Given the description of an element on the screen output the (x, y) to click on. 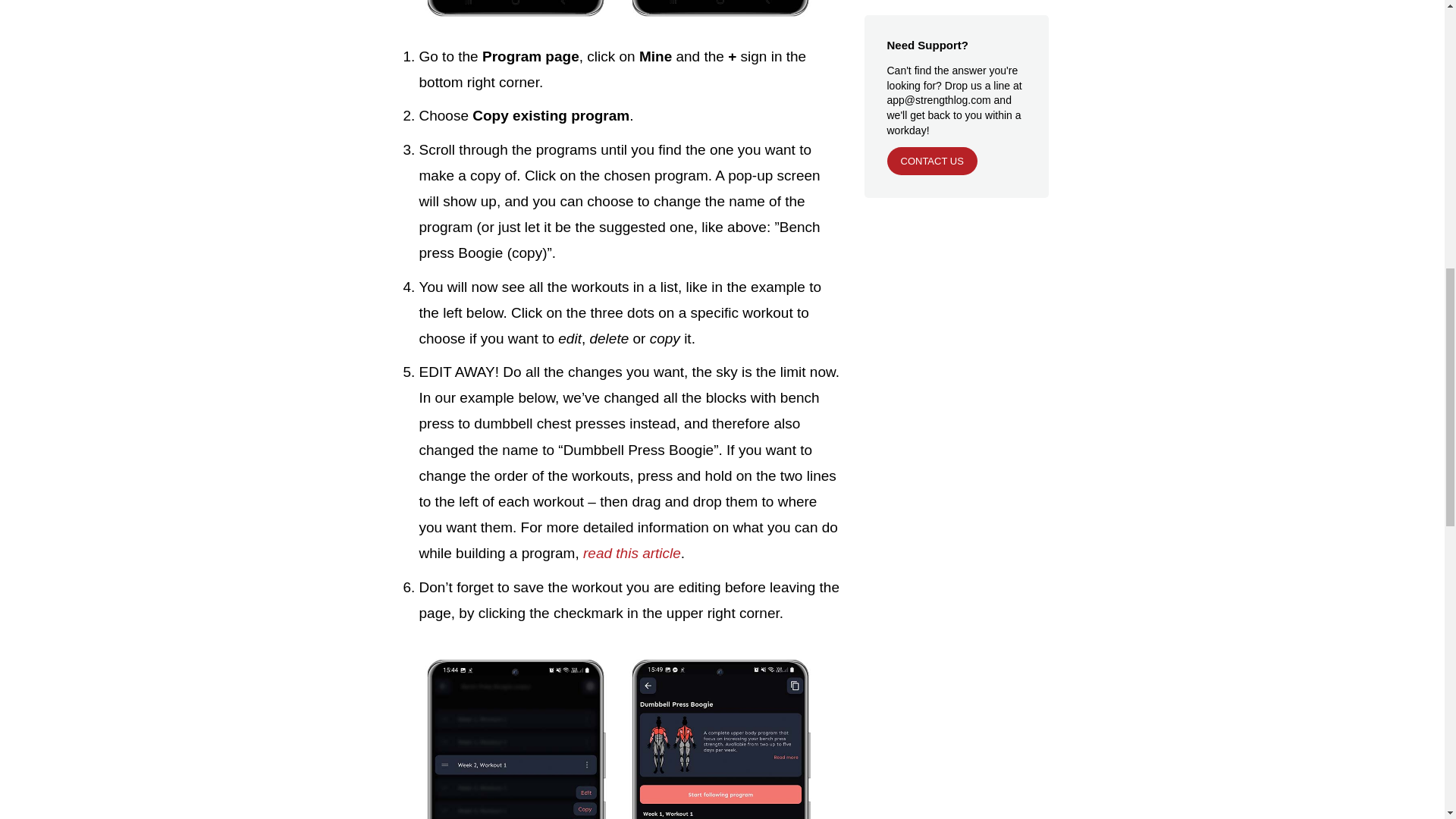
read this article (632, 553)
